Given the description of an element on the screen output the (x, y) to click on. 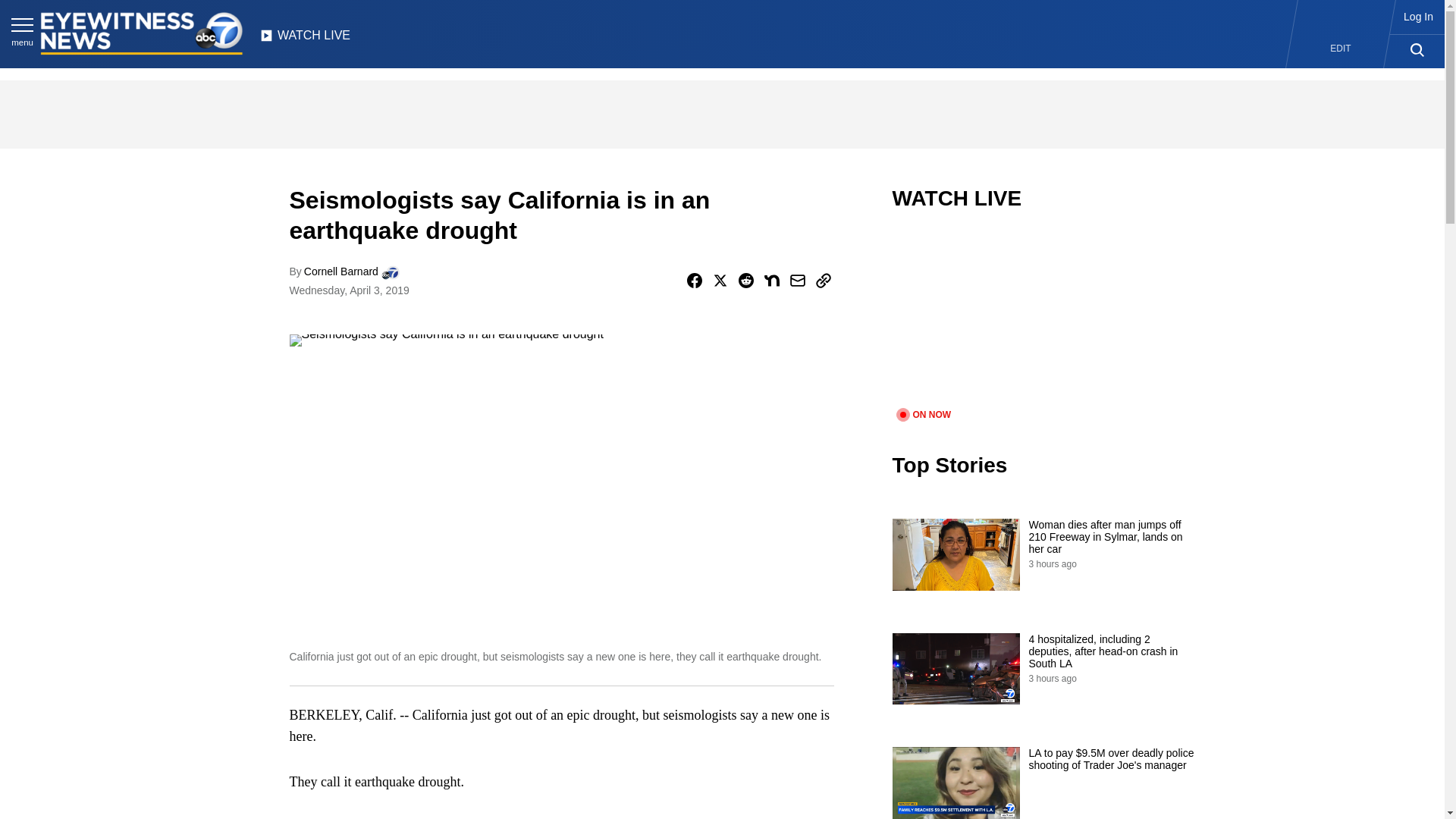
EDIT (1340, 48)
WATCH LIVE (305, 39)
video.title (1043, 318)
